Given the description of an element on the screen output the (x, y) to click on. 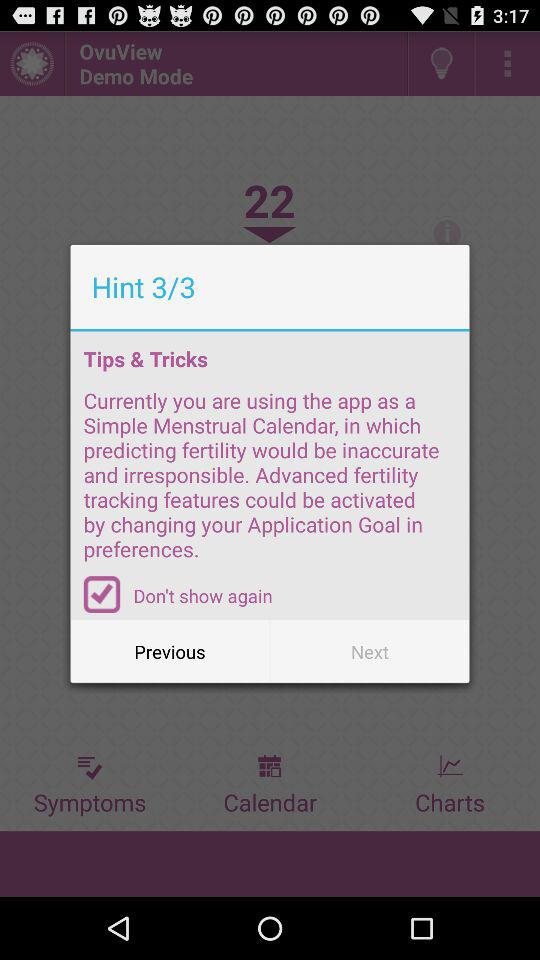
select the icon next to don t show app (101, 594)
